Given the description of an element on the screen output the (x, y) to click on. 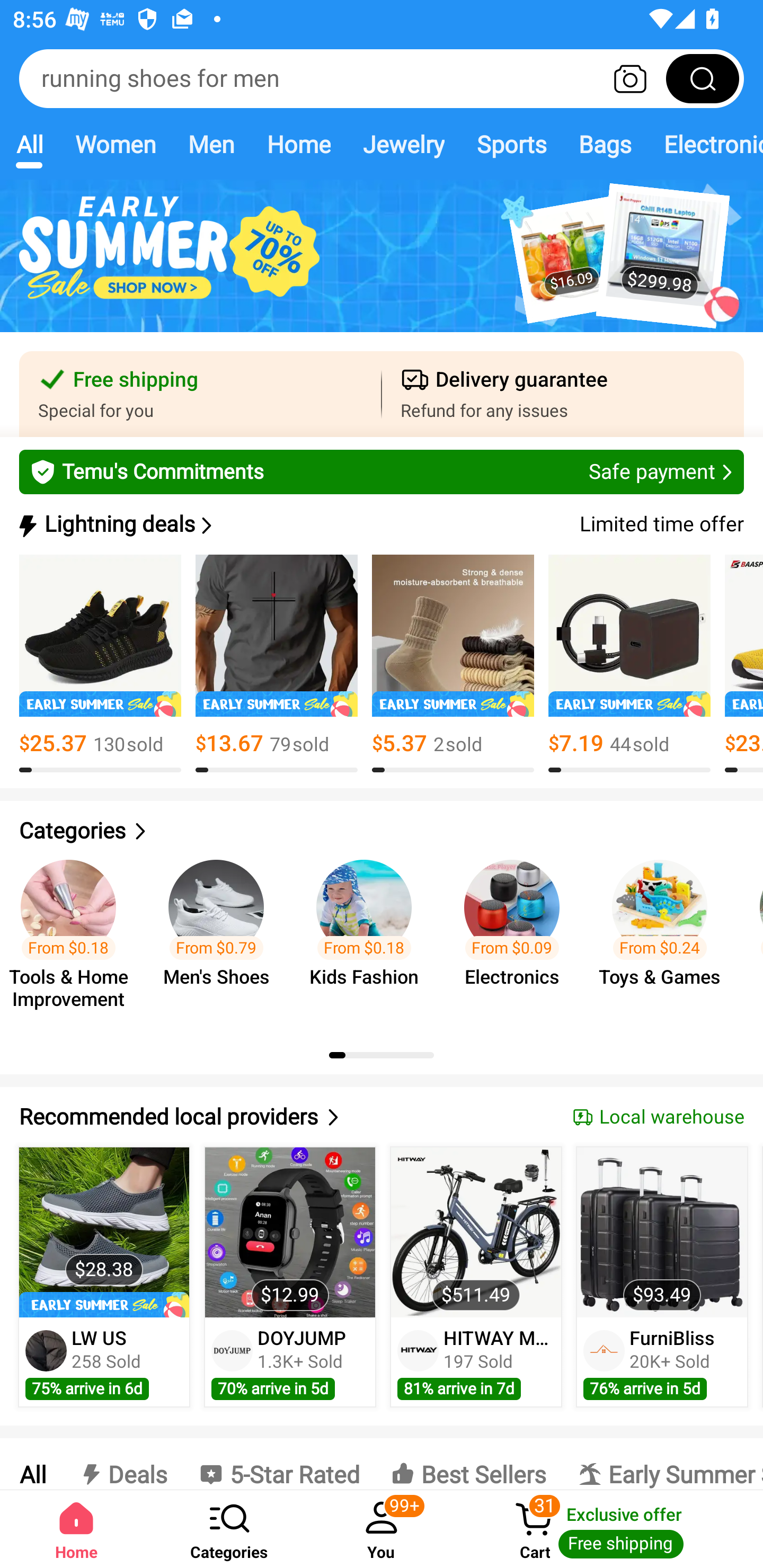
running shoes for men (381, 78)
All (29, 144)
Women (115, 144)
Men (211, 144)
Home (298, 144)
Jewelry (403, 144)
Sports (511, 144)
Bags (605, 144)
Electronics (705, 144)
$16.09 $299.98 (381, 265)
Free shipping Special for you (200, 394)
Delivery guarantee Refund for any issues (562, 394)
Temu's Commitments (381, 471)
Lightning deals Lightning deals Limited time offer (379, 524)
$25.37 130￼sold 8.0 (100, 664)
$13.67 79￼sold 8.0 (276, 664)
$5.37 2￼sold 8.0 (453, 664)
$7.19 44￼sold 8.0 (629, 664)
Categories (381, 830)
From $0.18 Tools & Home Improvement (74, 936)
From $0.79 Men's Shoes (222, 936)
From $0.18 Kids Fashion (369, 936)
From $0.09 Electronics (517, 936)
From $0.24 Toys & Games (665, 936)
$28.38 LW US 258 Sold 75% arrive in 6d (103, 1276)
$12.99 DOYJUMP 1.3K+ Sold 70% arrive in 5d (289, 1276)
$511.49 HITWAY MOBILE 197 Sold 81% arrive in 7d (475, 1276)
$93.49 FurniBliss 20K+ Sold 76% arrive in 5d (661, 1276)
$28.38 (104, 1232)
$12.99 (290, 1232)
$511.49 (475, 1232)
$93.49 (661, 1232)
All (32, 1463)
Deals Deals Deals (122, 1463)
5-Star Rated 5-Star Rated 5-Star Rated (279, 1463)
Best Sellers Best Sellers Best Sellers (468, 1463)
Home (76, 1528)
Categories (228, 1528)
You ‎99+‎ You (381, 1528)
Cart 31 Cart Exclusive offer (610, 1528)
